Given the description of an element on the screen output the (x, y) to click on. 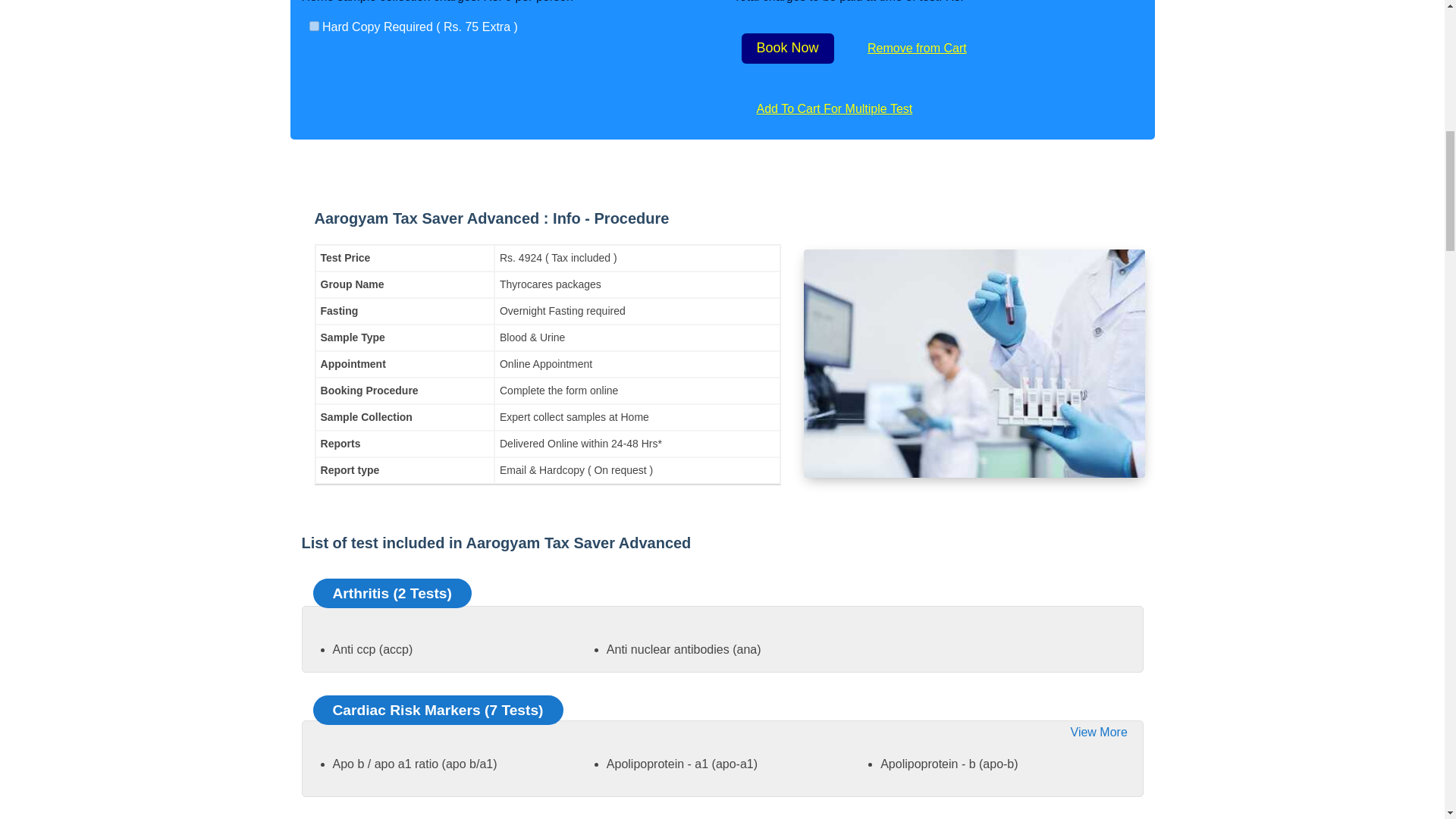
on (313, 26)
Book Now (787, 48)
Remove from Cart (916, 48)
Add To Cart For Multiple Test (834, 109)
Book Now (787, 48)
